Given the description of an element on the screen output the (x, y) to click on. 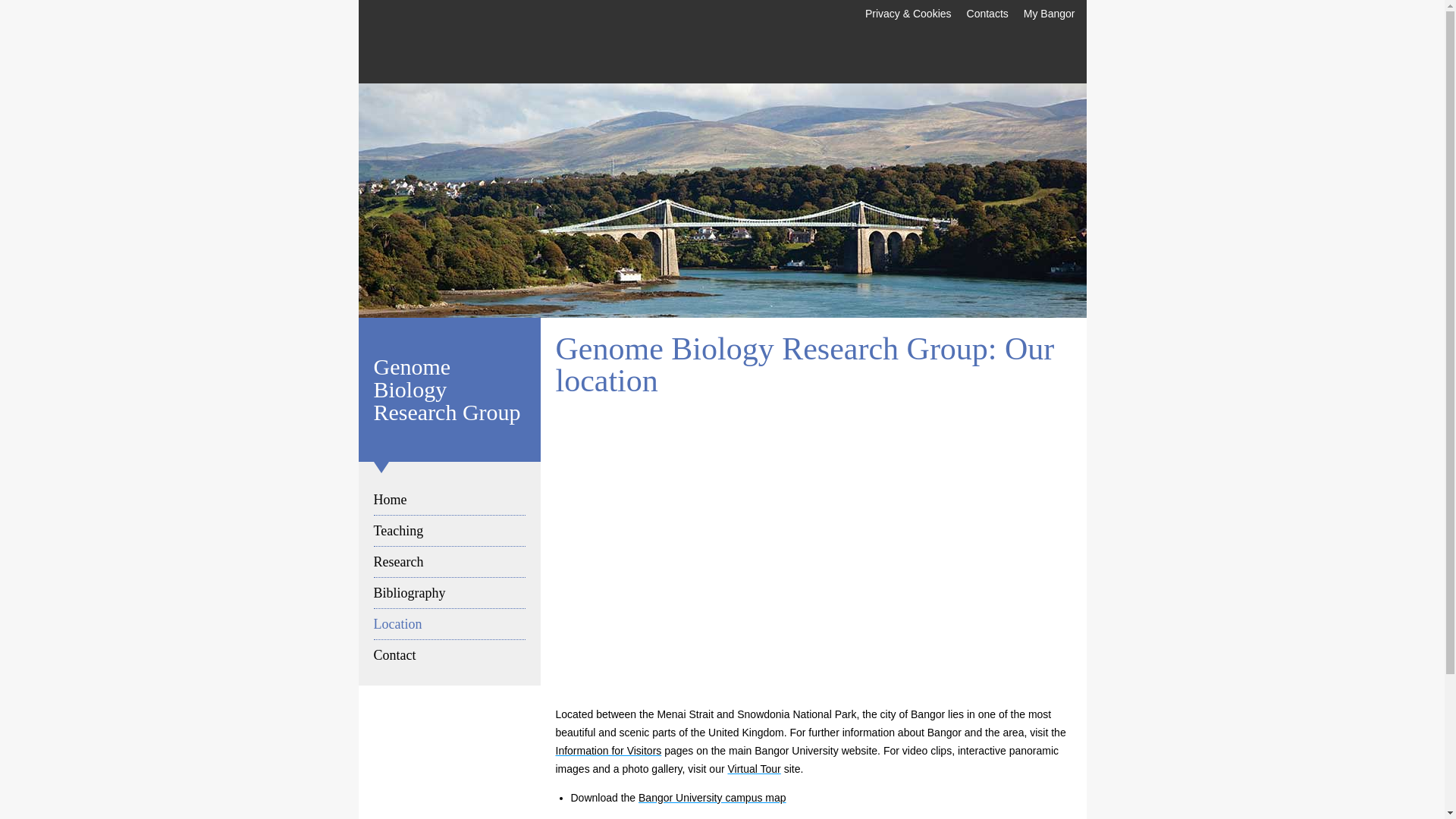
Bibliography (448, 593)
Virtual Tour (753, 768)
Bangor University (440, 41)
My Bangor (1049, 13)
Contacts (986, 13)
Bangor University campus map (712, 797)
Information for Visitors (607, 750)
Home (448, 499)
Contact (448, 654)
Research (448, 562)
